Given the description of an element on the screen output the (x, y) to click on. 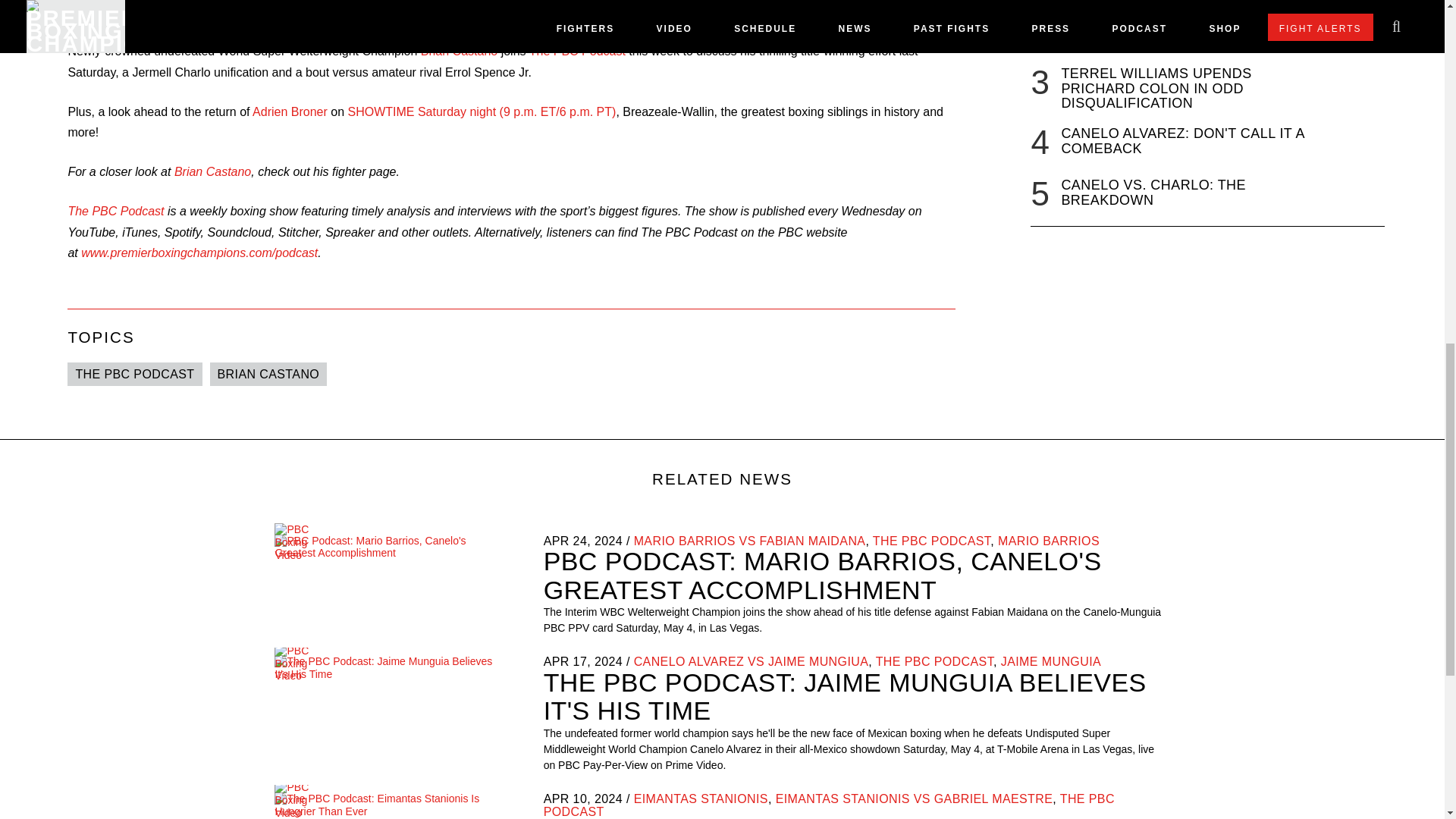
April (556, 540)
Brian Castano (212, 171)
BRIAN CASTANO (268, 373)
April (556, 798)
The PBC Podcast (114, 210)
April (556, 661)
Brian Castano (458, 51)
THE PBC PODCAST (134, 373)
The PBC Podcast (577, 51)
Adrien Broner (289, 111)
